Given the description of an element on the screen output the (x, y) to click on. 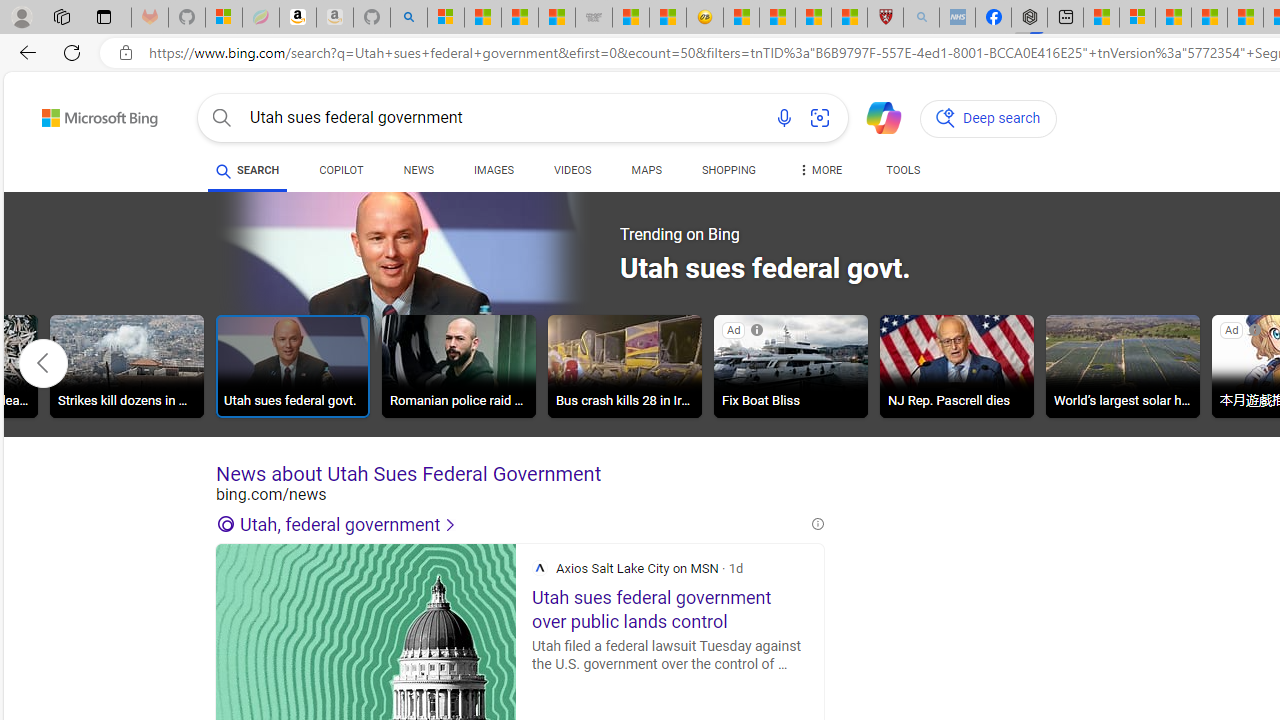
NJ Rep. Pascrell dies (957, 365)
Utah sues federal govt. (292, 365)
Utah, federal government (511, 524)
Strikes kill dozens in Gaza (126, 365)
Click to scroll left (43, 362)
MAPS (646, 173)
